Given the description of an element on the screen output the (x, y) to click on. 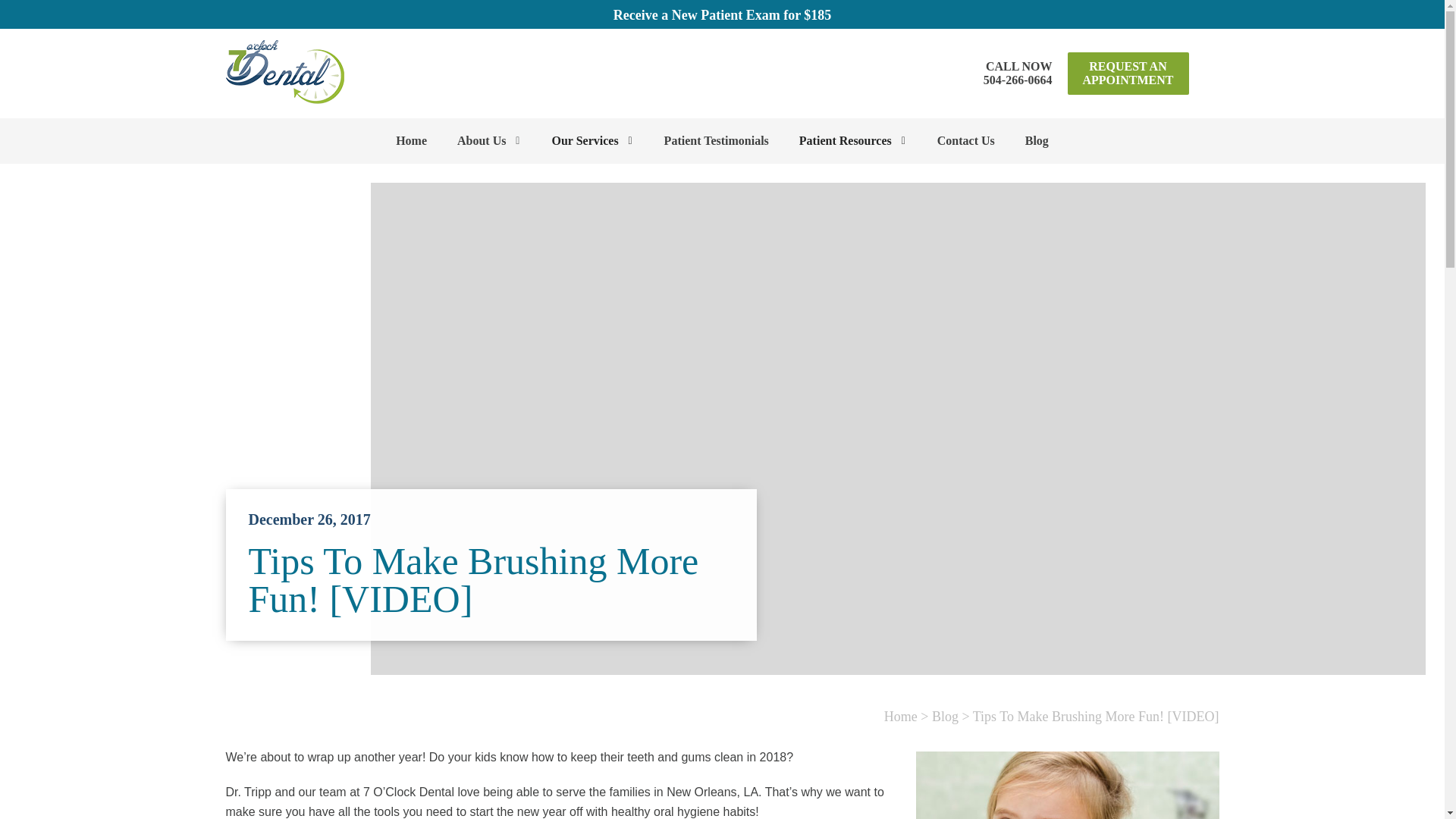
About Us (1018, 72)
REQUEST AN APPOINTMENT (488, 140)
